Given the description of an element on the screen output the (x, y) to click on. 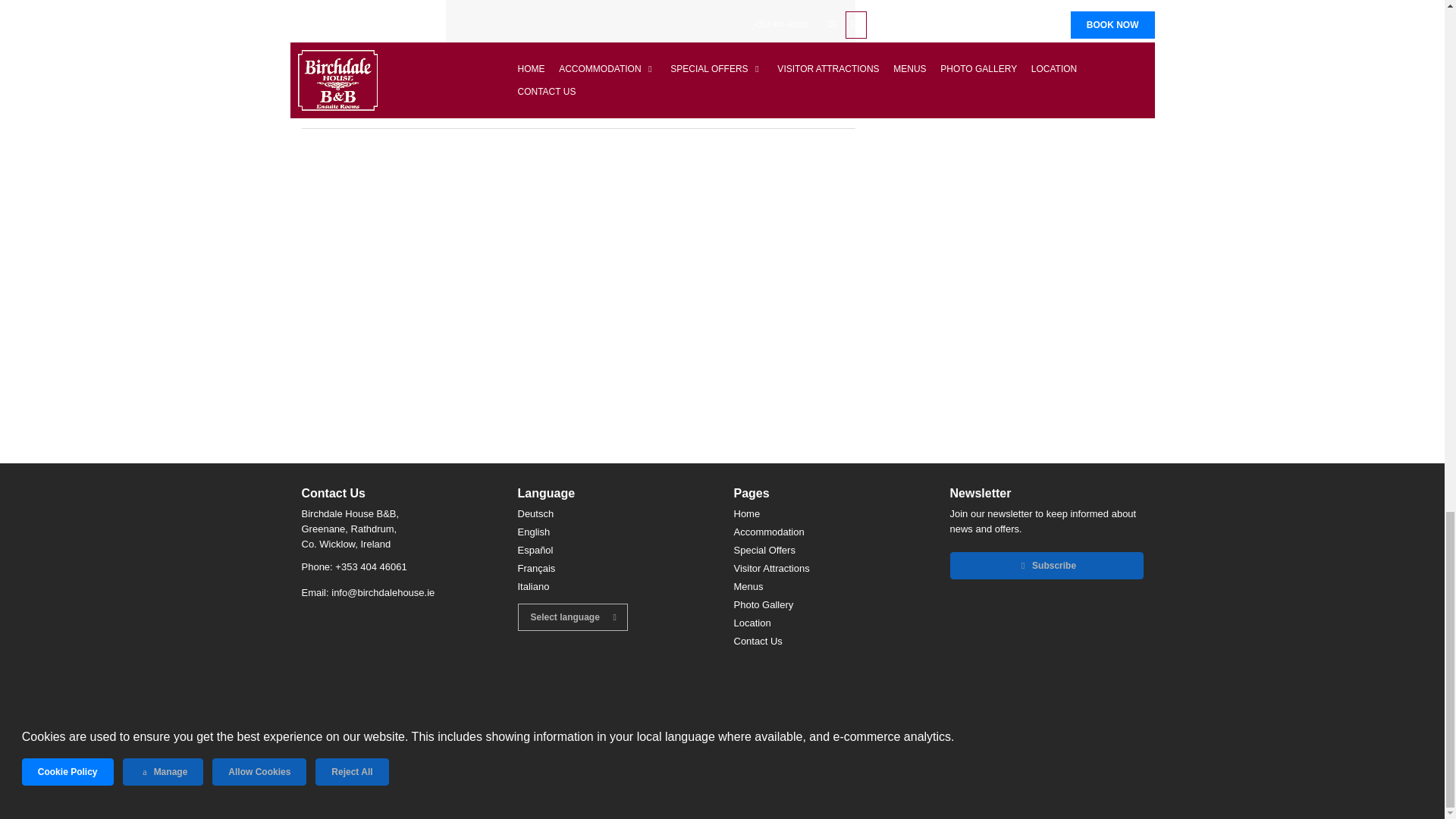
Deutsch (534, 513)
English (533, 531)
Italiano (532, 586)
